Given the description of an element on the screen output the (x, y) to click on. 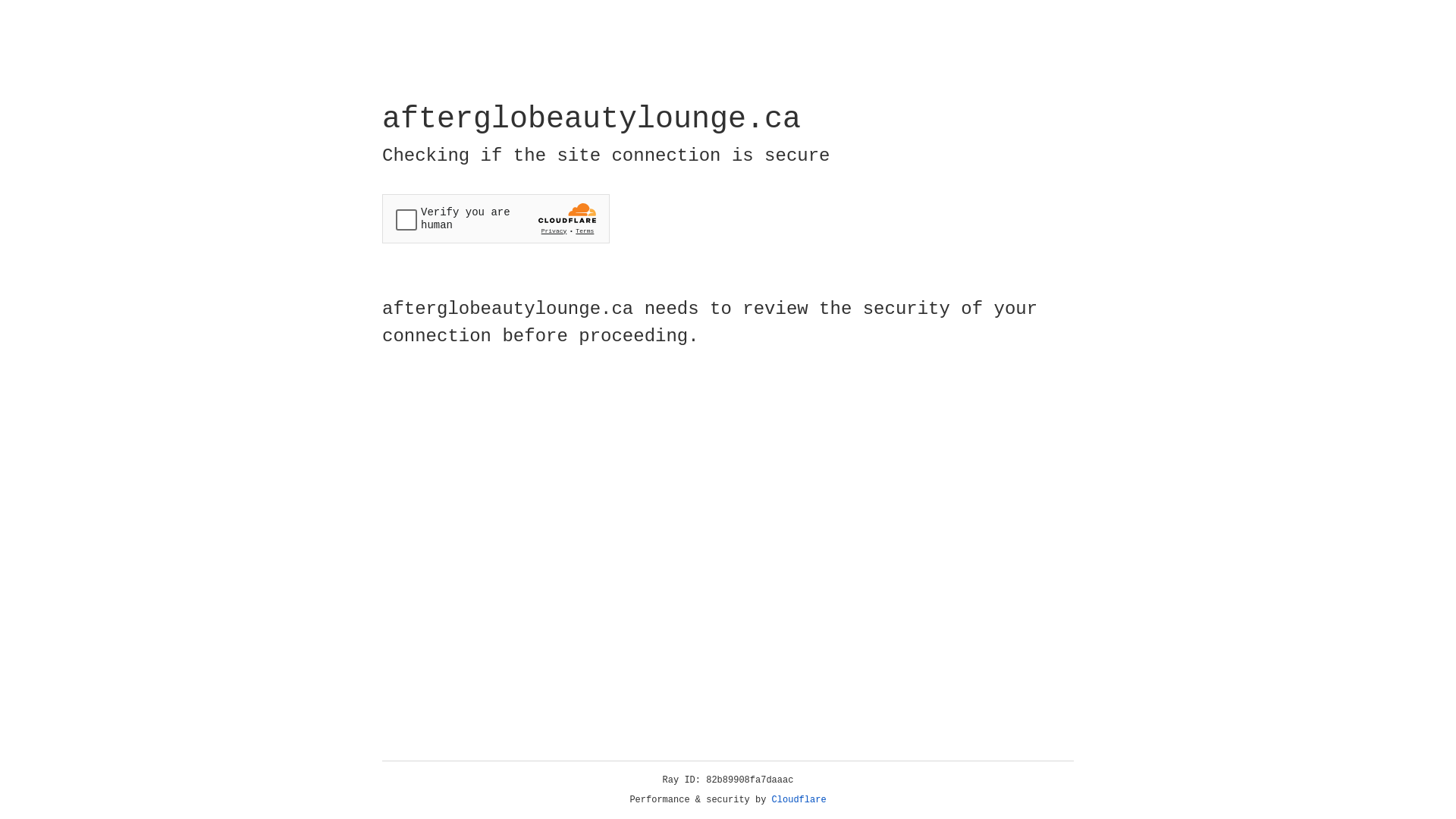
Cloudflare Element type: text (798, 799)
Widget containing a Cloudflare security challenge Element type: hover (495, 218)
